Given the description of an element on the screen output the (x, y) to click on. 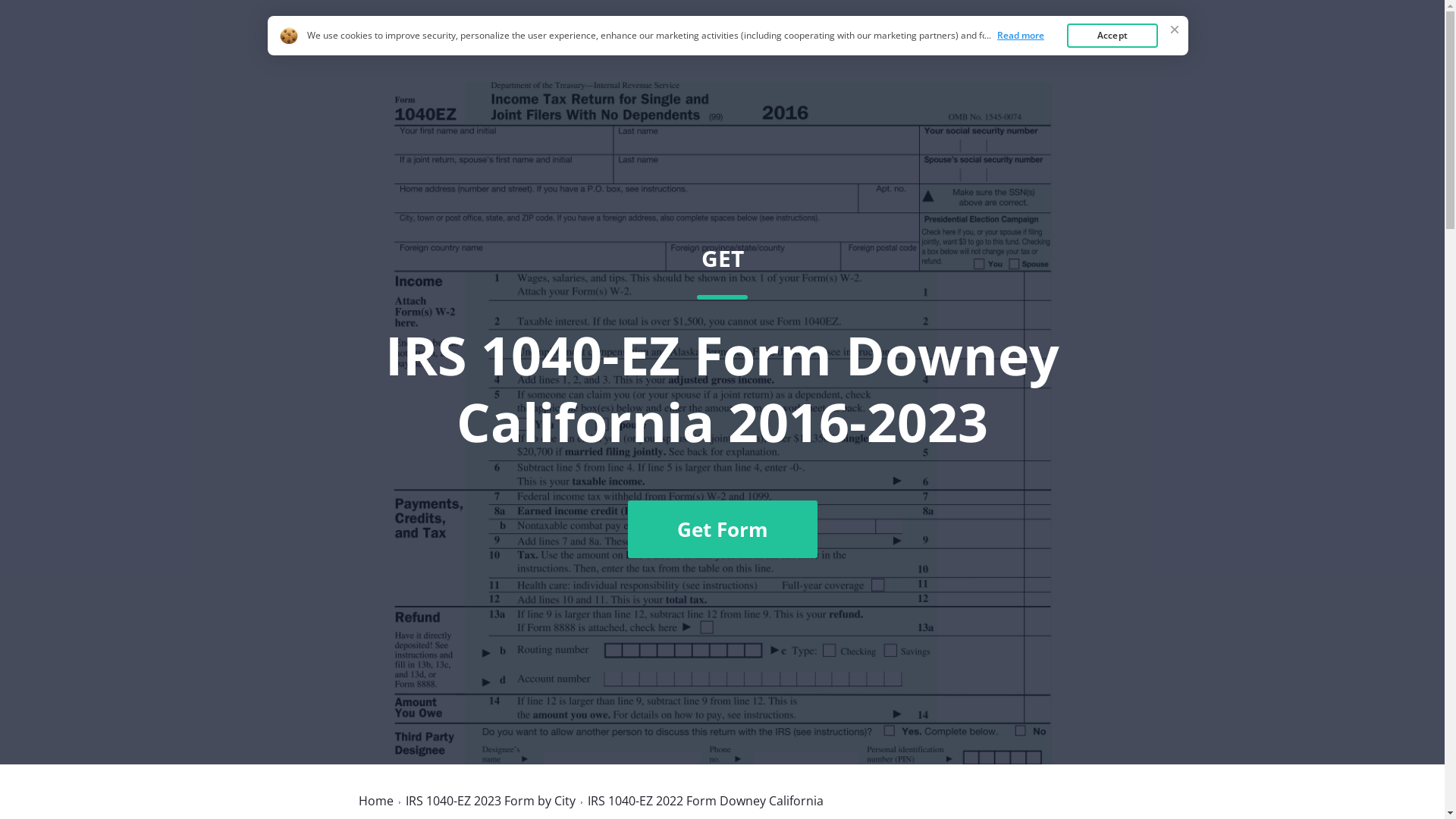
IRS 1040-EZ 2023 Form Element type: text (453, 46)
Accept Element type: text (1111, 35)
GET
IRS 1040-EZ Form Downey California 2016-2023
Get Form Element type: text (721, 400)
Home Element type: text (374, 800)
IRS 1040-EZ 2023 Form by City Element type: text (489, 800)
Top Forms Element type: text (1062, 47)
Home Element type: text (986, 47)
